Given the description of an element on the screen output the (x, y) to click on. 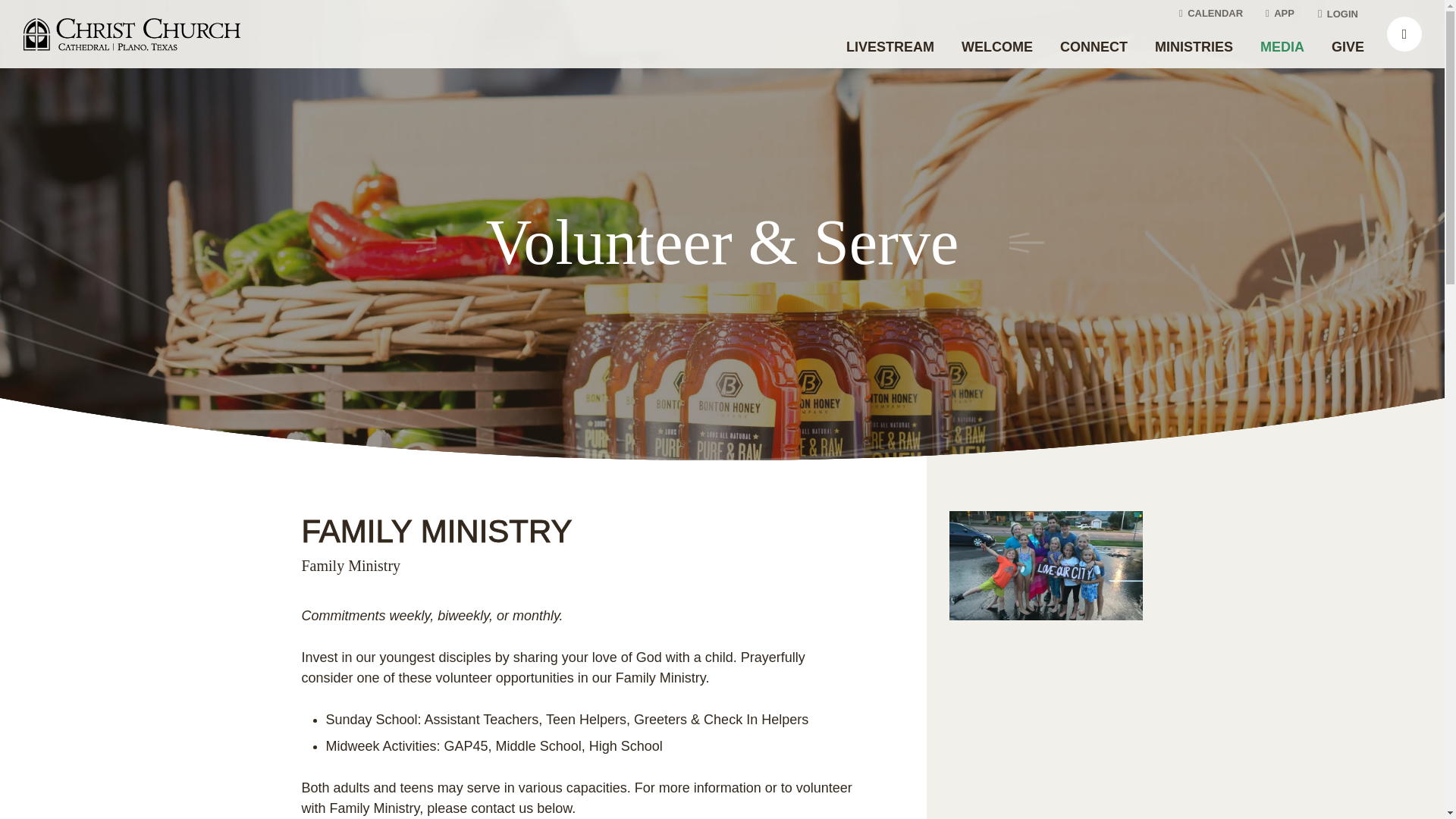
Login Options (1340, 14)
MEDIA (1281, 46)
WELCOME (996, 46)
LOGIN (1340, 14)
Search (1404, 33)
CONNECT (1093, 46)
Calendar (1213, 14)
App (1282, 14)
APP (1282, 14)
LIVESTREAM (889, 46)
CALENDAR (1213, 14)
MINISTRIES (1193, 46)
Christ Church Plano (132, 34)
GIVE (1347, 46)
